Given the description of an element on the screen output the (x, y) to click on. 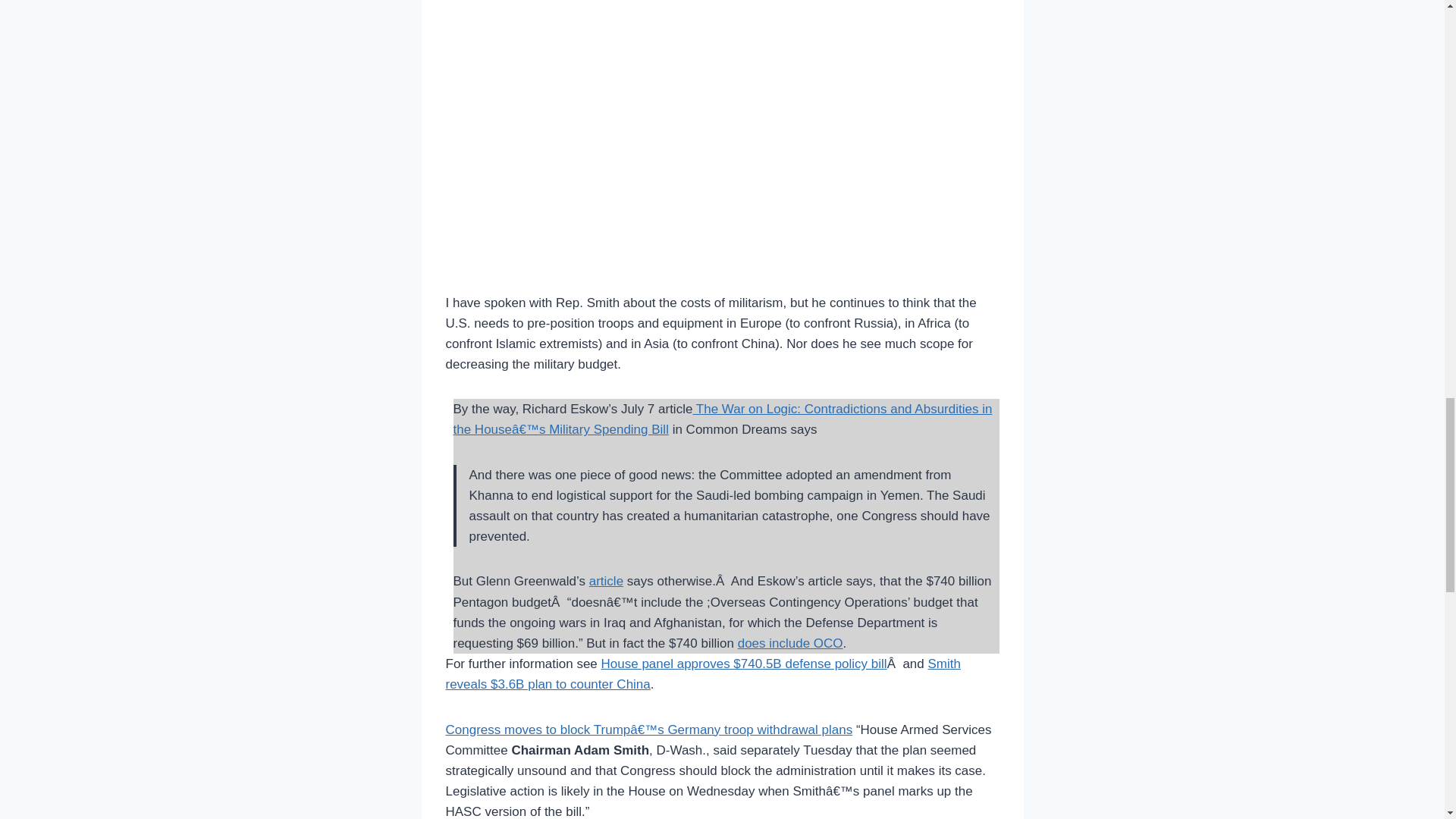
does include OCO (790, 643)
article (606, 581)
